Given the description of an element on the screen output the (x, y) to click on. 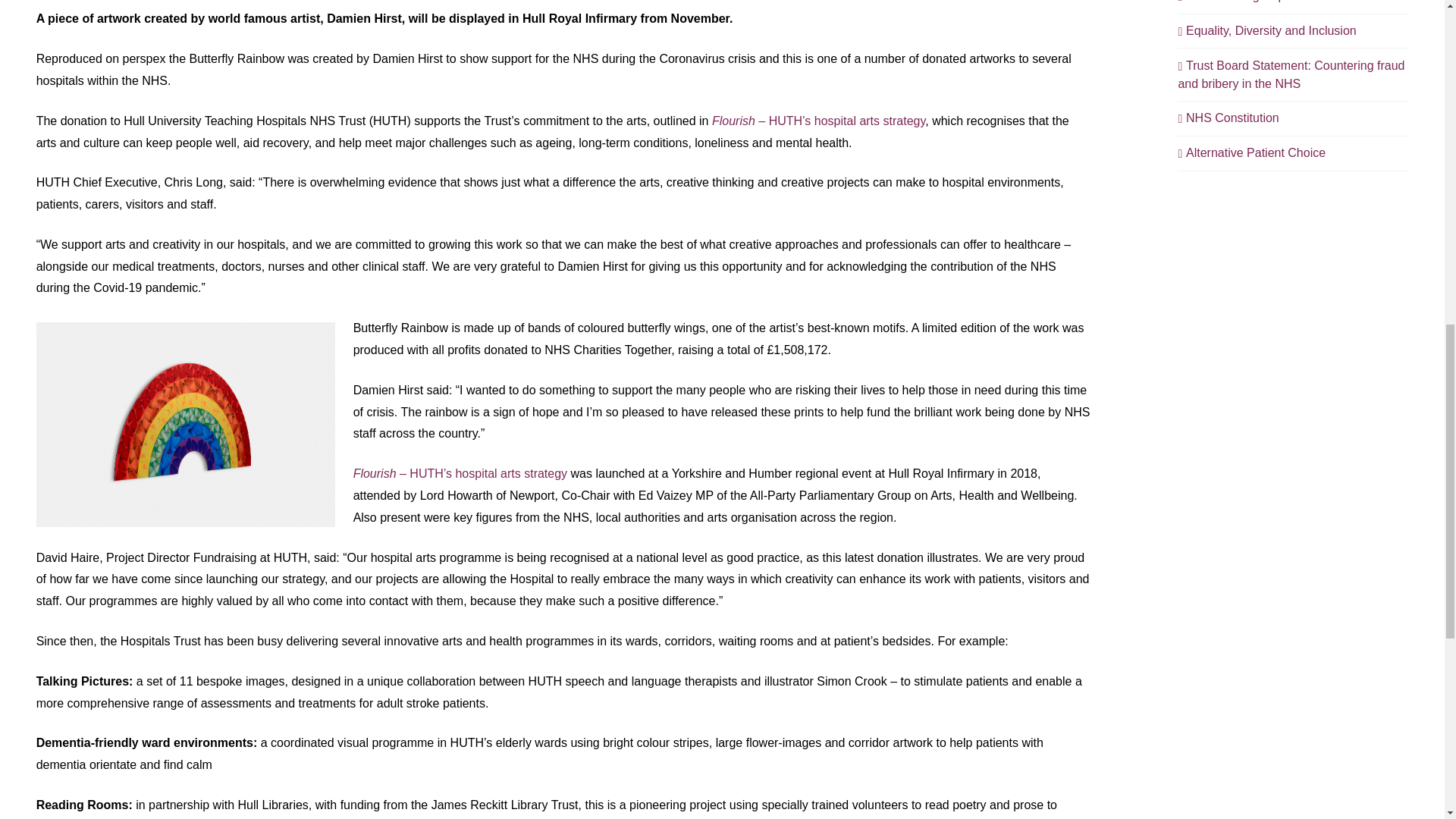
Safer Staffing Reports (1240, 2)
Equality, Diversity and Inclusion (1266, 31)
